Given the description of an element on the screen output the (x, y) to click on. 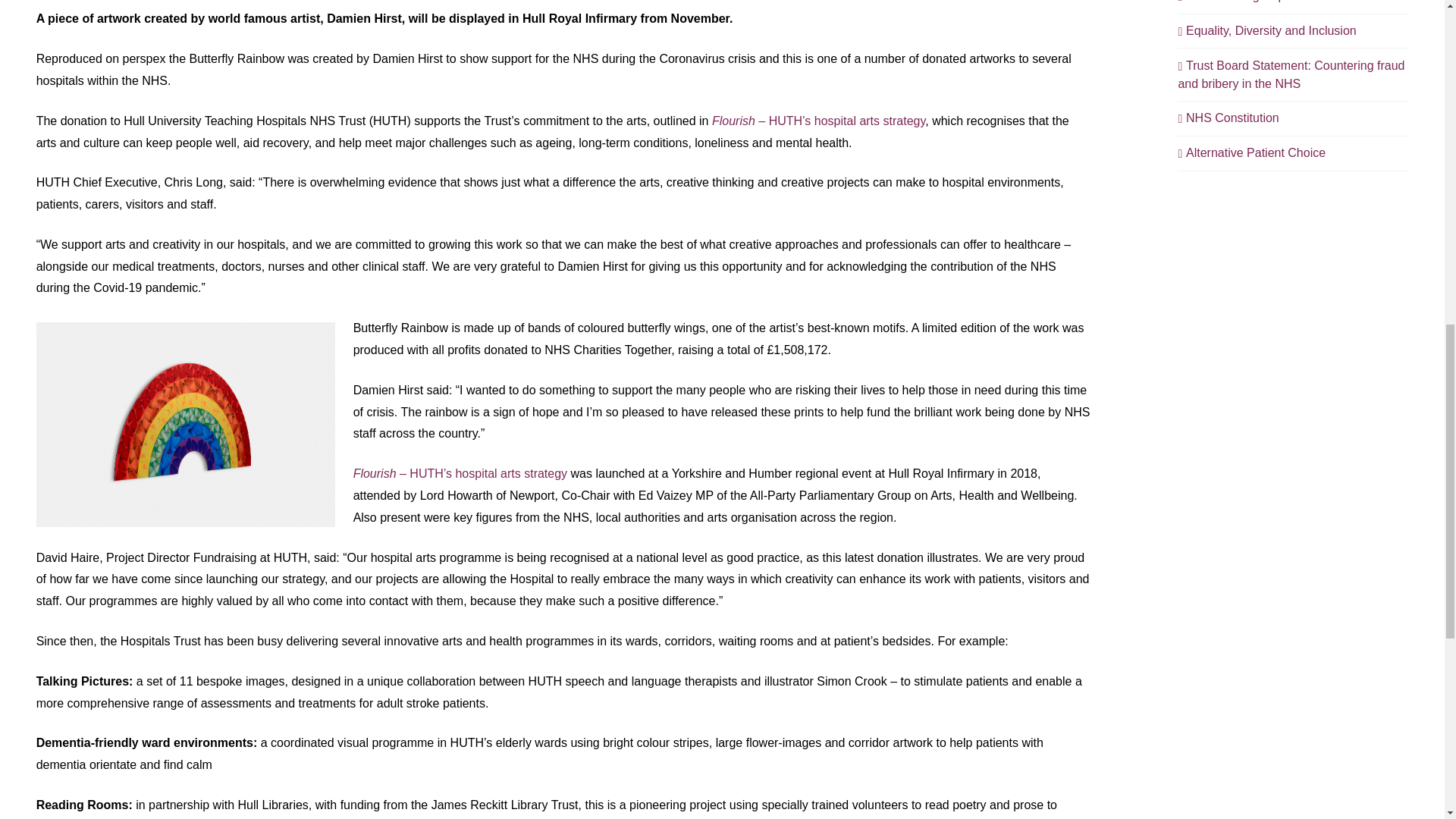
Safer Staffing Reports (1240, 2)
Equality, Diversity and Inclusion (1266, 31)
